Given the description of an element on the screen output the (x, y) to click on. 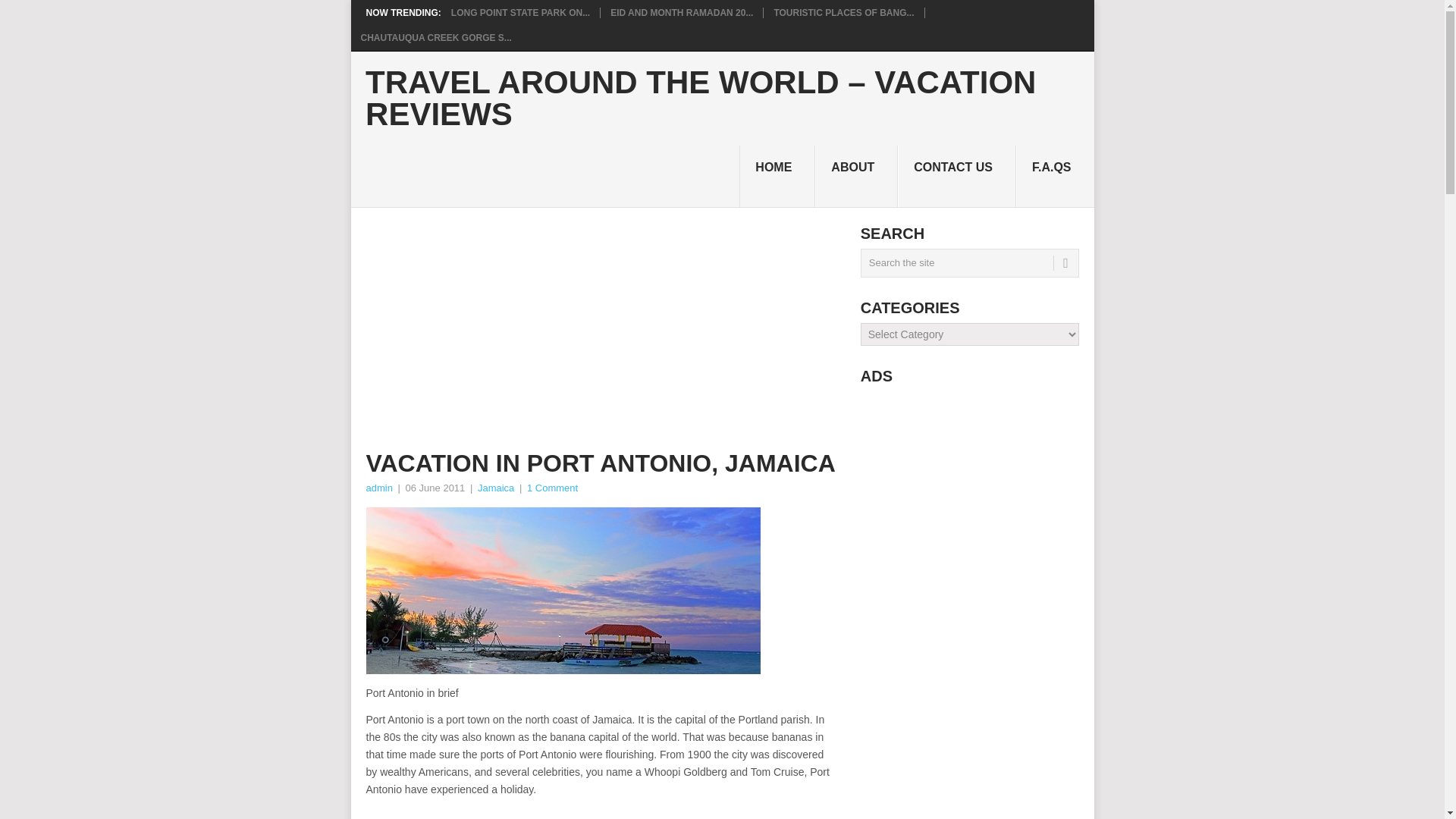
sunset over jamaica beach (562, 590)
Advertisement (602, 813)
CONTACT US (957, 176)
Jamaica (495, 487)
ABOUT (856, 176)
Search the site (969, 262)
Posts by admin (378, 487)
F.A.QS (1055, 176)
admin (378, 487)
Eid and Month Ramadan 2016 Muslim Greetings Cards (681, 12)
